Given the description of an element on the screen output the (x, y) to click on. 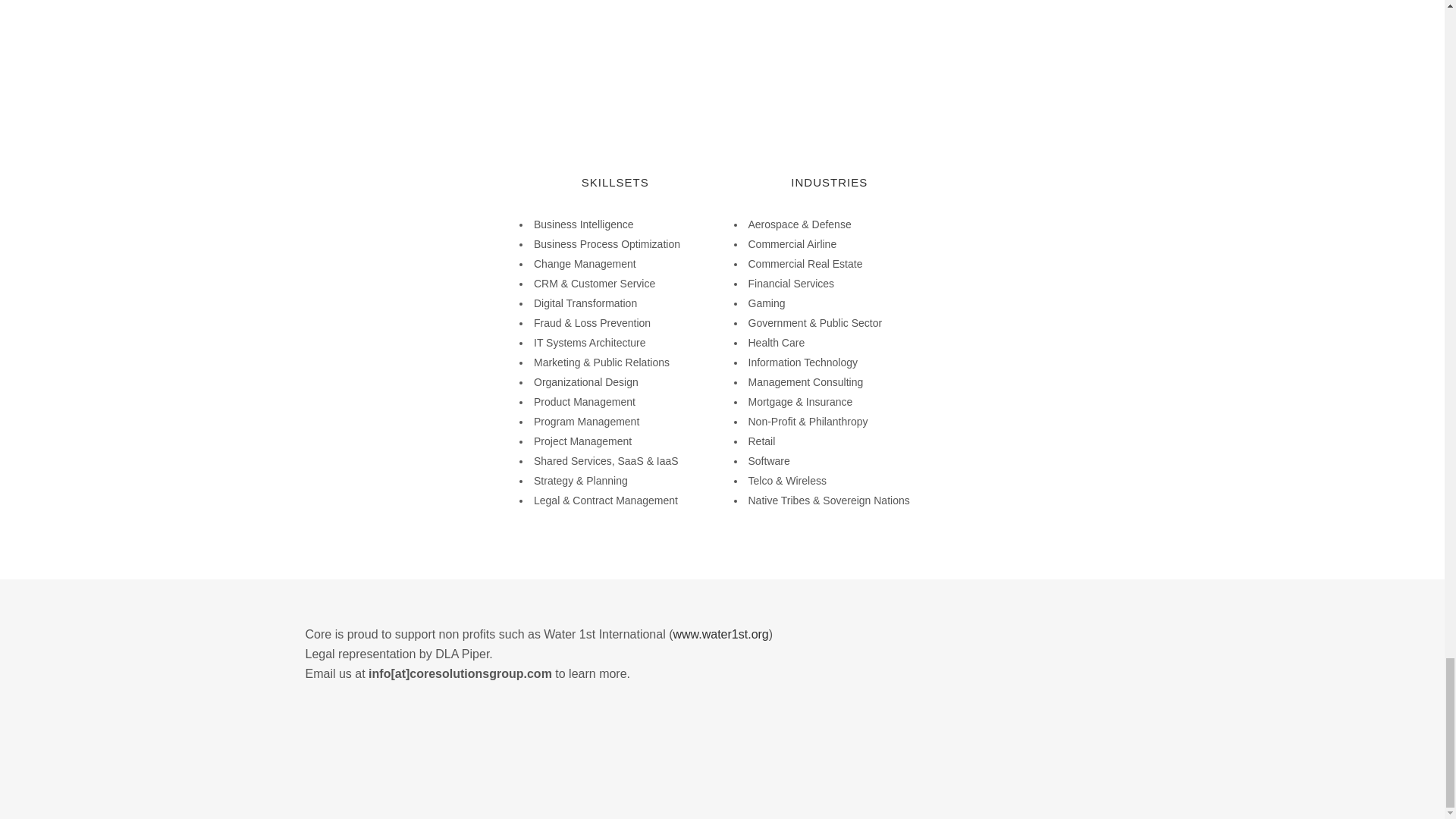
www.water1st.org (720, 634)
